Given the description of an element on the screen output the (x, y) to click on. 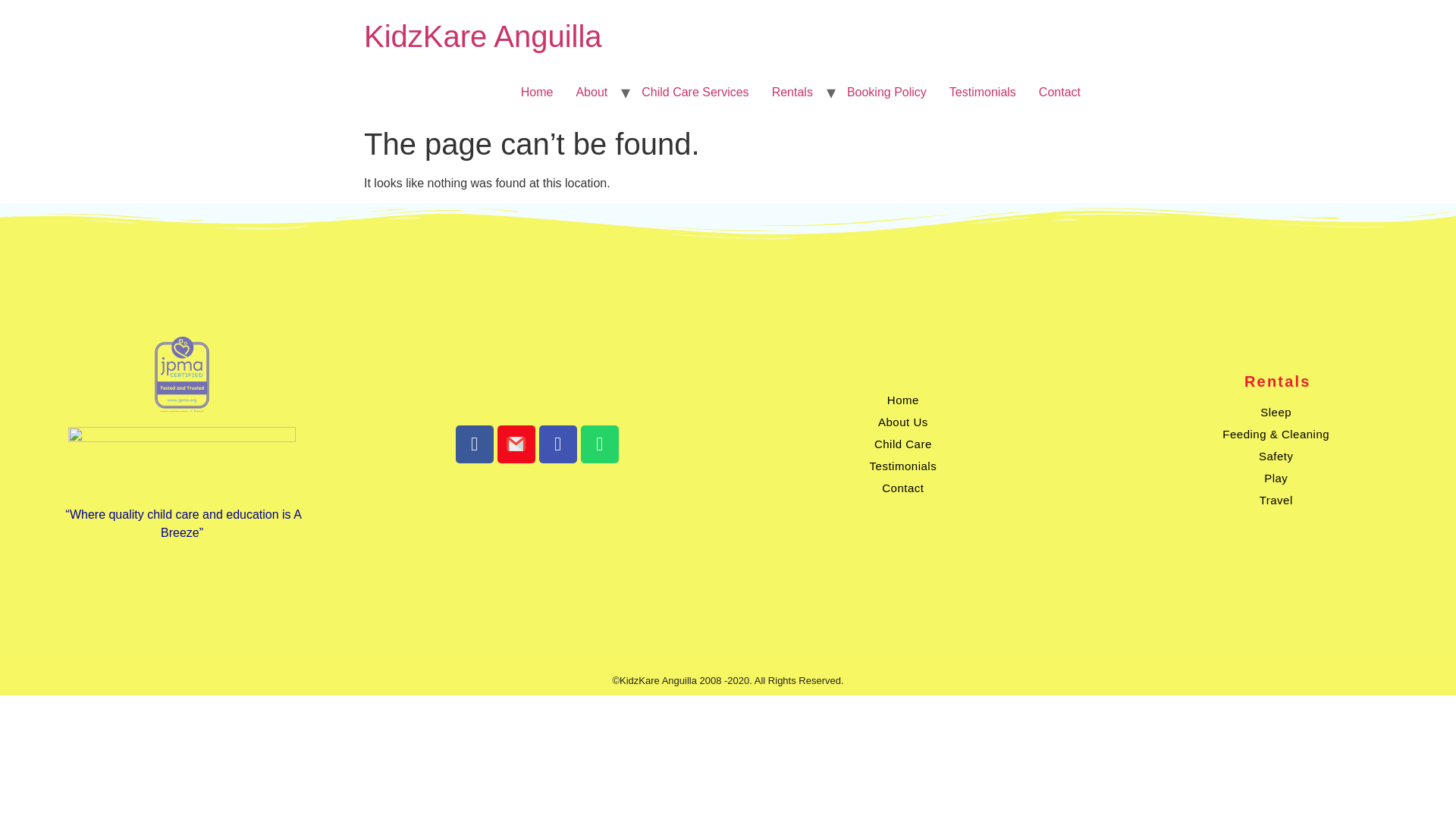
Travel (1275, 499)
logo (181, 373)
Sleep (1275, 412)
Testimonials (903, 465)
Child Care (903, 444)
Contact (1059, 91)
Home (483, 36)
Child Care Services (695, 91)
Home (903, 400)
About (591, 91)
Testimonials (982, 91)
Safety (1275, 455)
About Us (903, 422)
Play (1275, 477)
Booking Policy (886, 91)
